Given the description of an element on the screen output the (x, y) to click on. 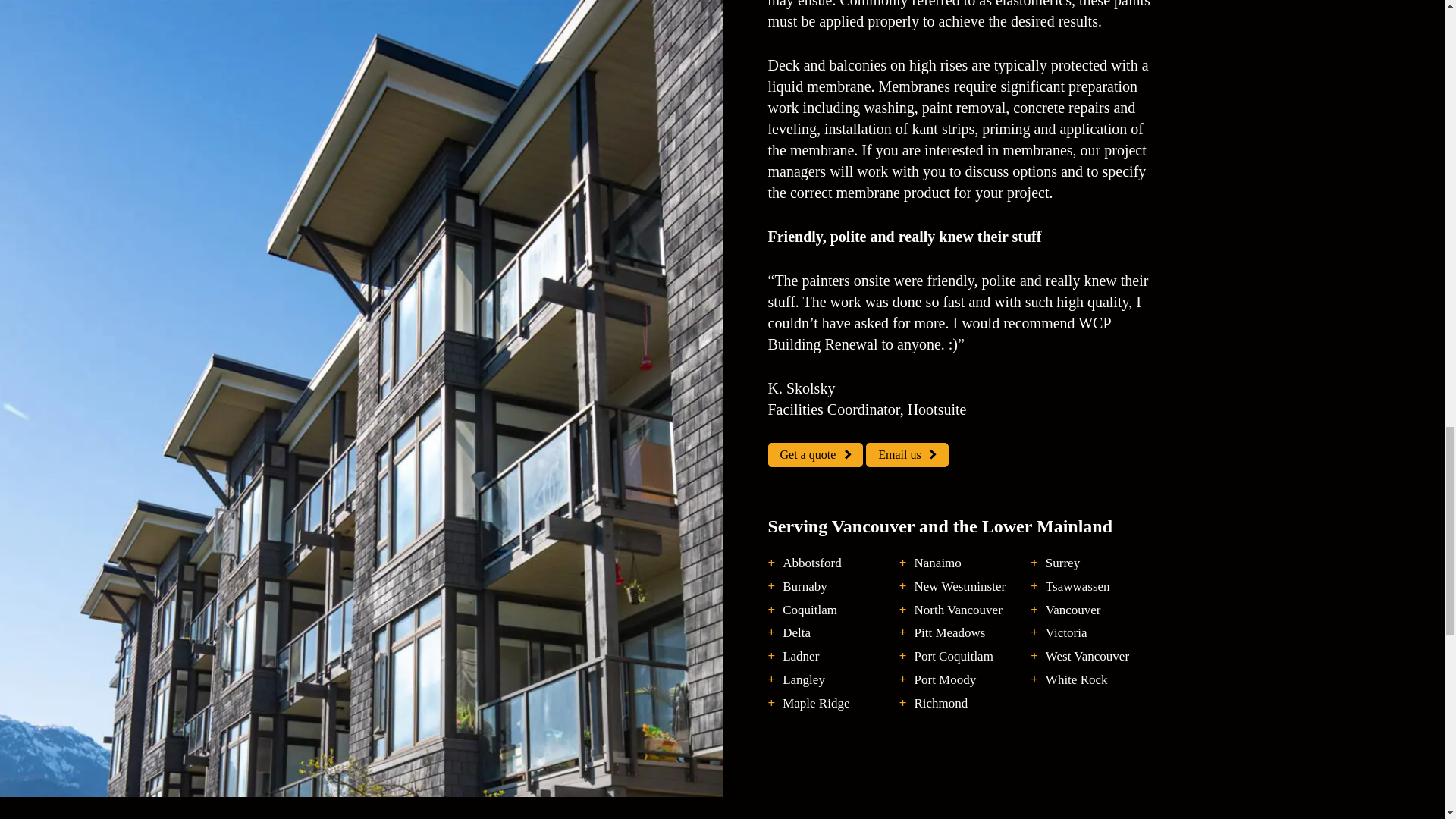
Get a quote (815, 454)
Email us (906, 454)
Delta (796, 633)
Coquitlam (810, 610)
Abbotsford (812, 563)
Ladner (800, 656)
Langley (804, 680)
Burnaby (805, 587)
